Given the description of an element on the screen output the (x, y) to click on. 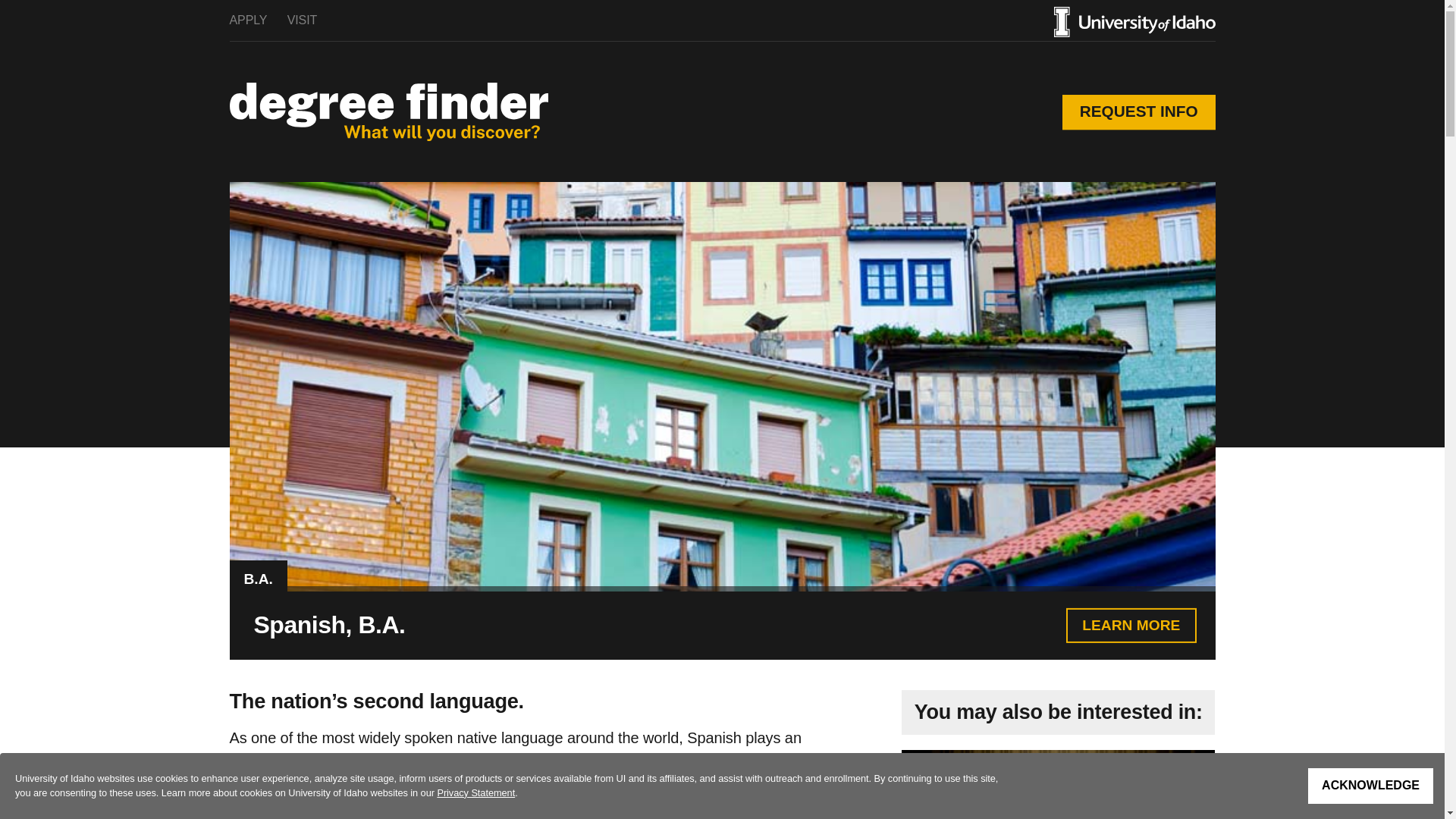
REQUEST INFO (1138, 112)
APPLY (247, 19)
VISIT (301, 19)
B.A. (258, 577)
B.A. (258, 578)
LEARN MORE (1130, 625)
